Given the description of an element on the screen output the (x, y) to click on. 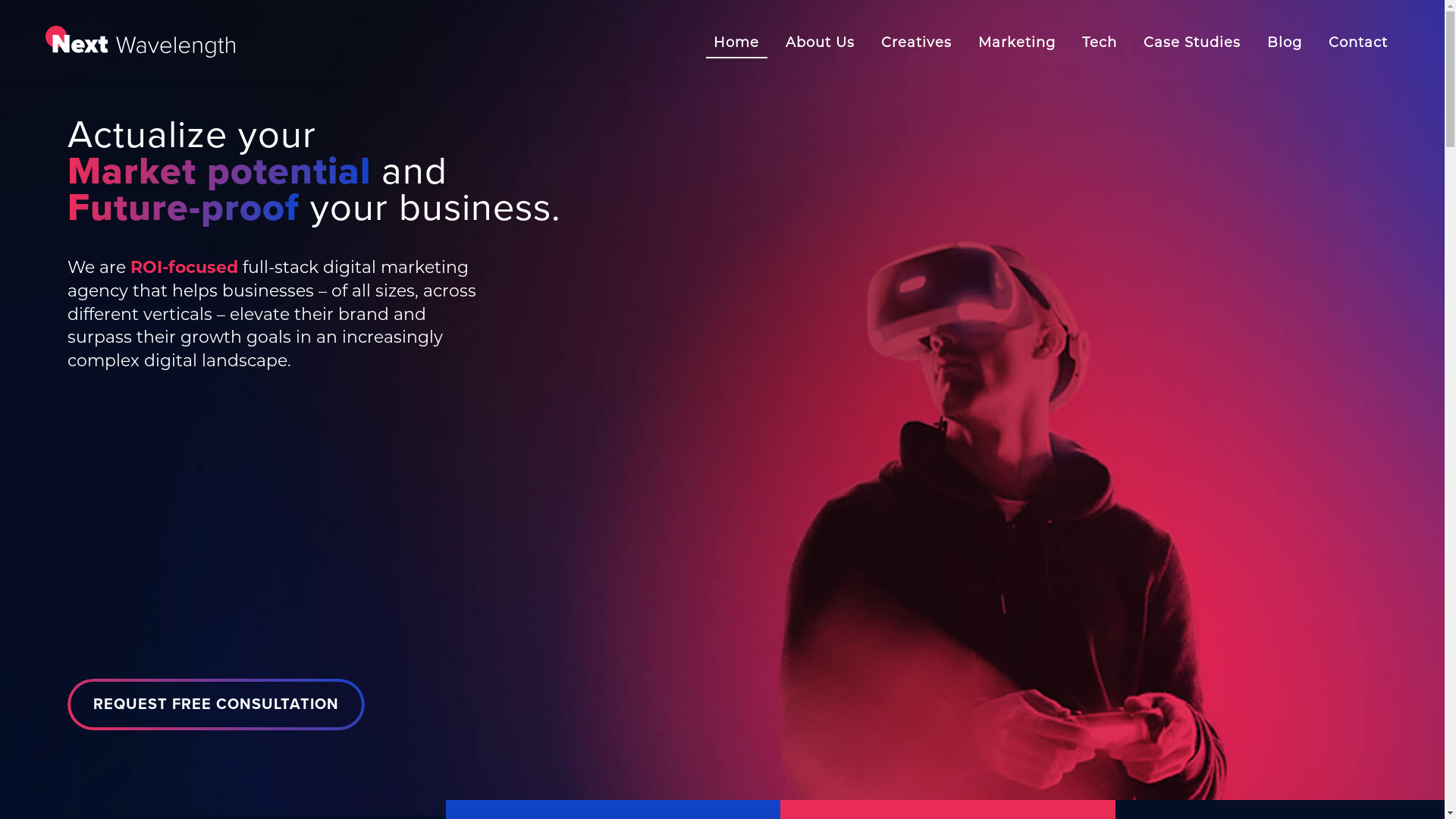
Contact Element type: text (1358, 42)
Creatives Element type: text (916, 42)
Blog Element type: text (1284, 42)
Tech Element type: text (1099, 42)
Case Studies Element type: text (1192, 42)
Home Element type: text (736, 42)
About Us Element type: text (820, 42)
Skip to primary navigation Element type: text (0, 0)
Marketing Element type: text (1016, 42)
REQUEST FREE CONSULTATION Element type: text (215, 704)
